Given the description of an element on the screen output the (x, y) to click on. 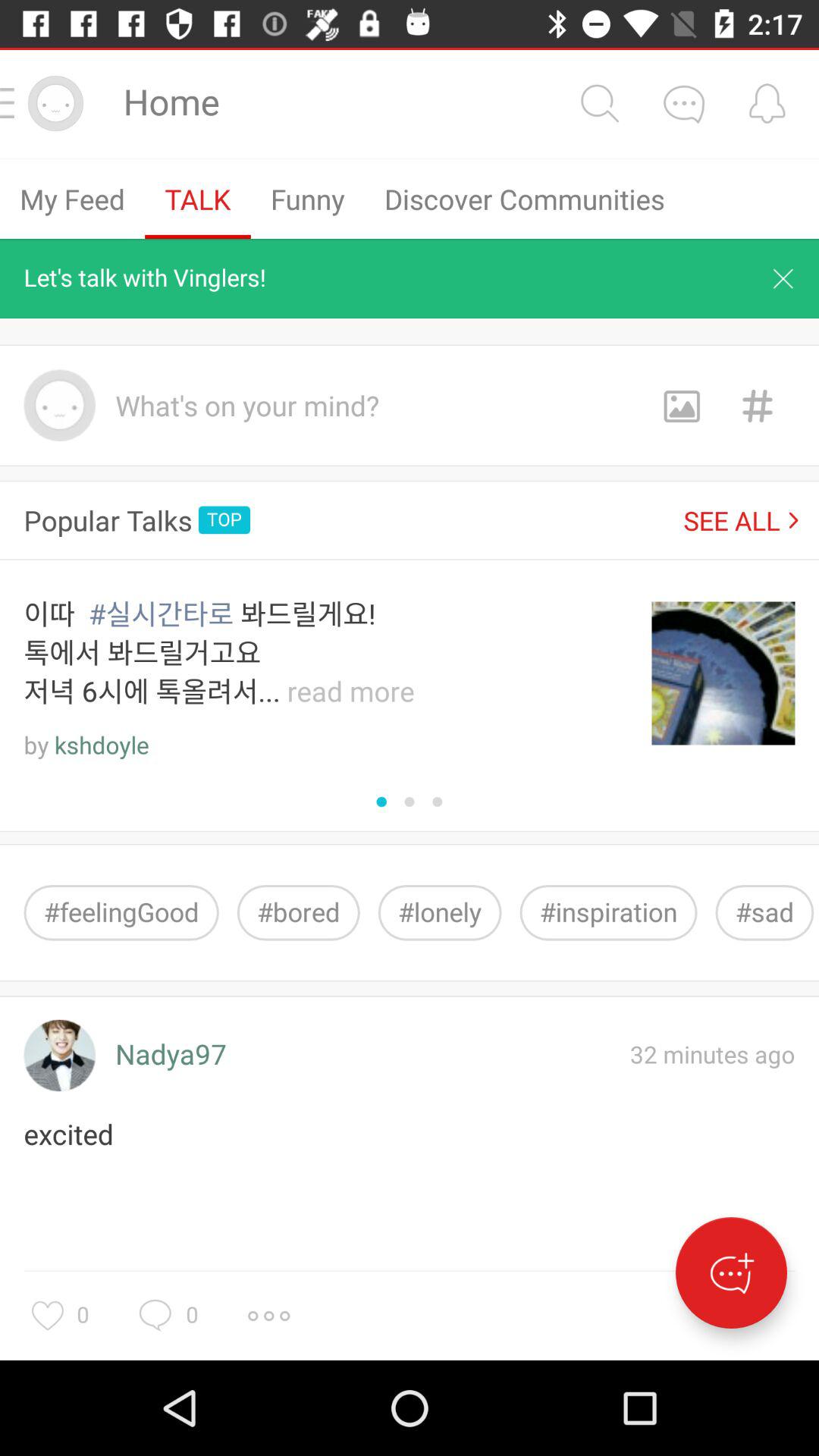
jump until the nadya97 (170, 1055)
